Given the description of an element on the screen output the (x, y) to click on. 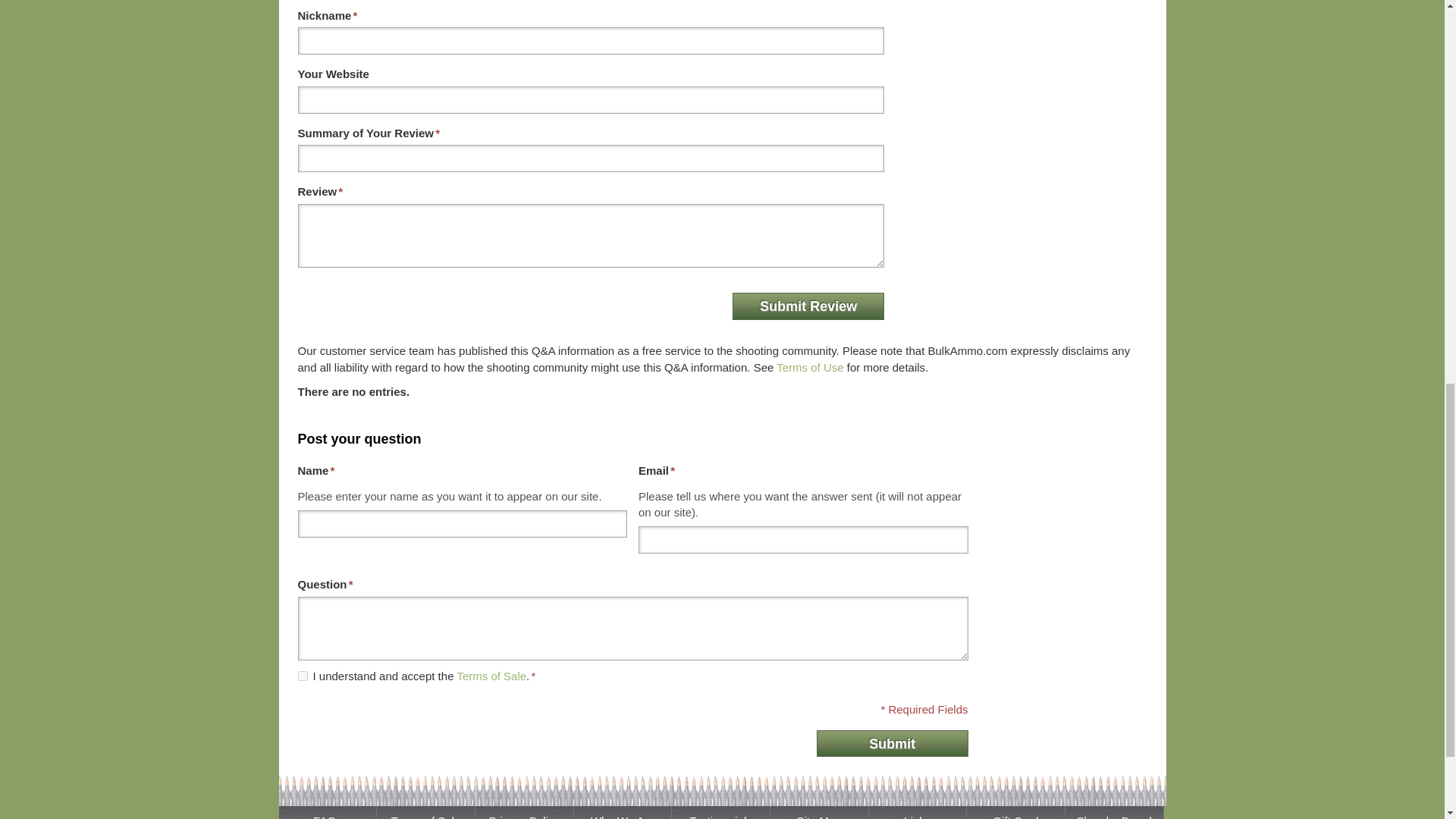
on (302, 675)
